Given the description of an element on the screen output the (x, y) to click on. 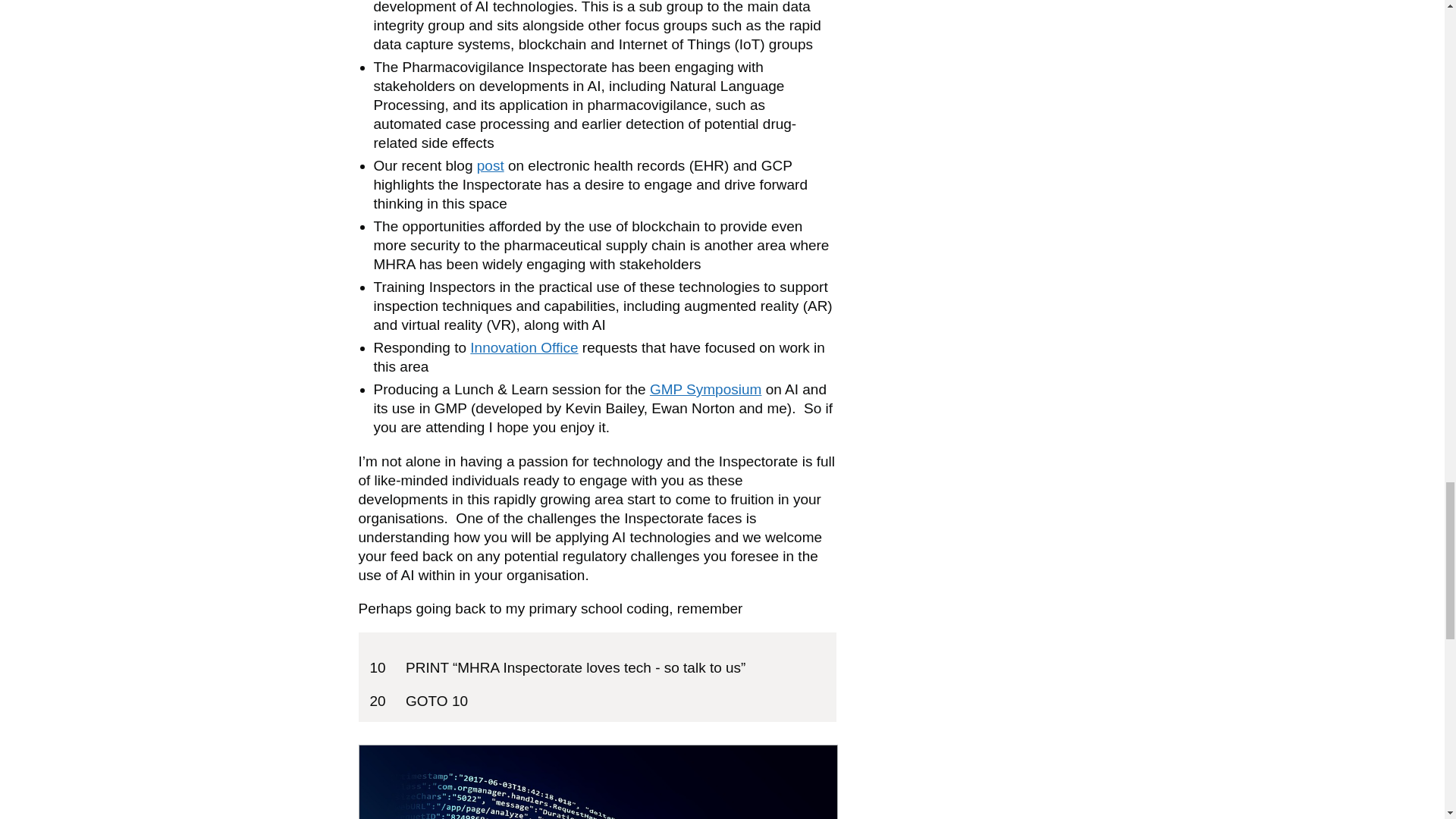
Innovation Office (524, 347)
post (490, 165)
GMP Symposium (705, 389)
